Given the description of an element on the screen output the (x, y) to click on. 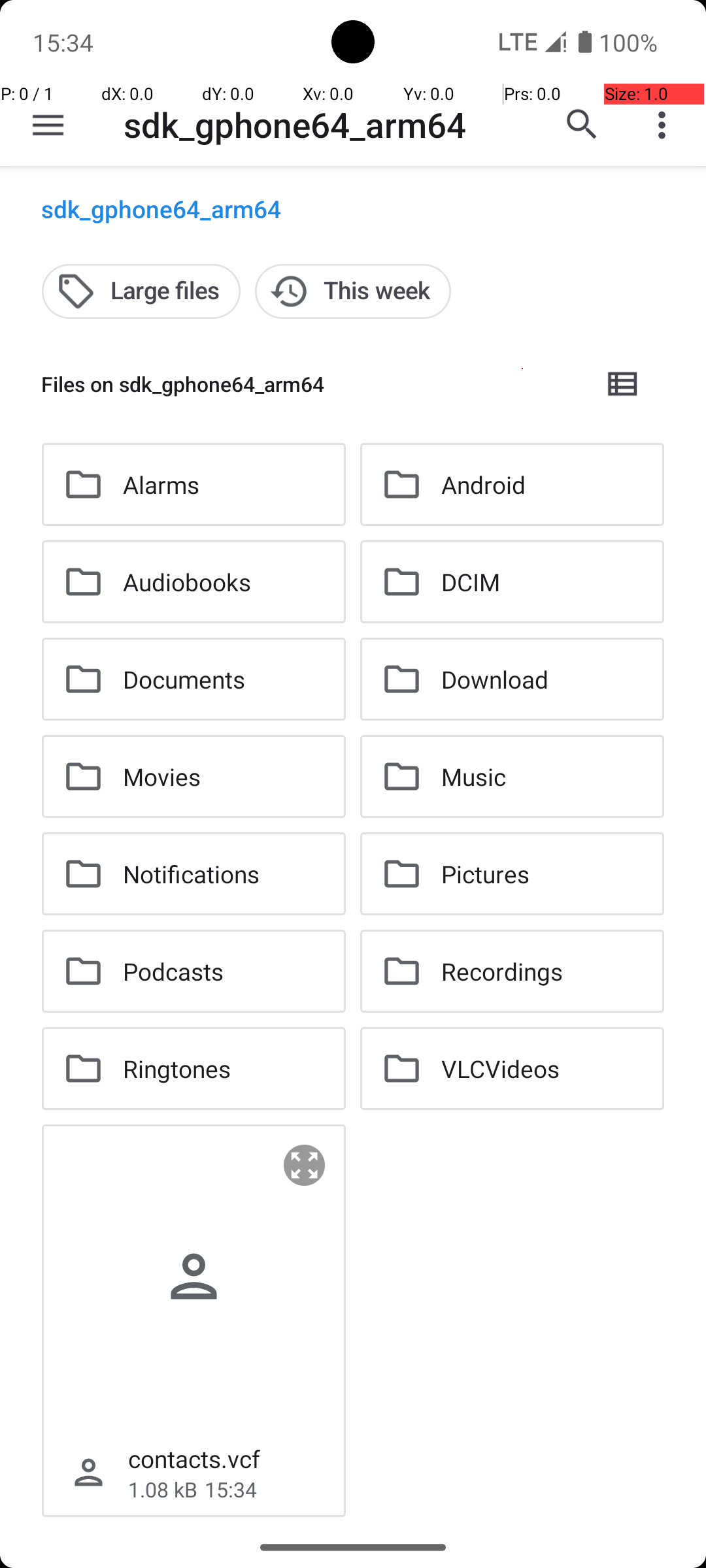
Files on sdk_gphone64_arm64 Element type: android.widget.TextView (311, 383)
Alarms Element type: android.widget.TextView (160, 484)
Android Element type: android.widget.TextView (483, 484)
Audiobooks Element type: android.widget.TextView (186, 581)
Movies Element type: android.widget.TextView (161, 776)
Pictures Element type: android.widget.TextView (485, 873)
Podcasts Element type: android.widget.TextView (172, 970)
Recordings Element type: android.widget.TextView (501, 970)
Ringtones Element type: android.widget.TextView (176, 1068)
VLCVideos Element type: android.widget.TextView (500, 1068)
Preview the file contacts.vcf Element type: android.widget.FrameLayout (304, 1165)
contacts.vcf Element type: android.widget.TextView (194, 1458)
1.08 kB Element type: android.widget.TextView (162, 1489)
